Given the description of an element on the screen output the (x, y) to click on. 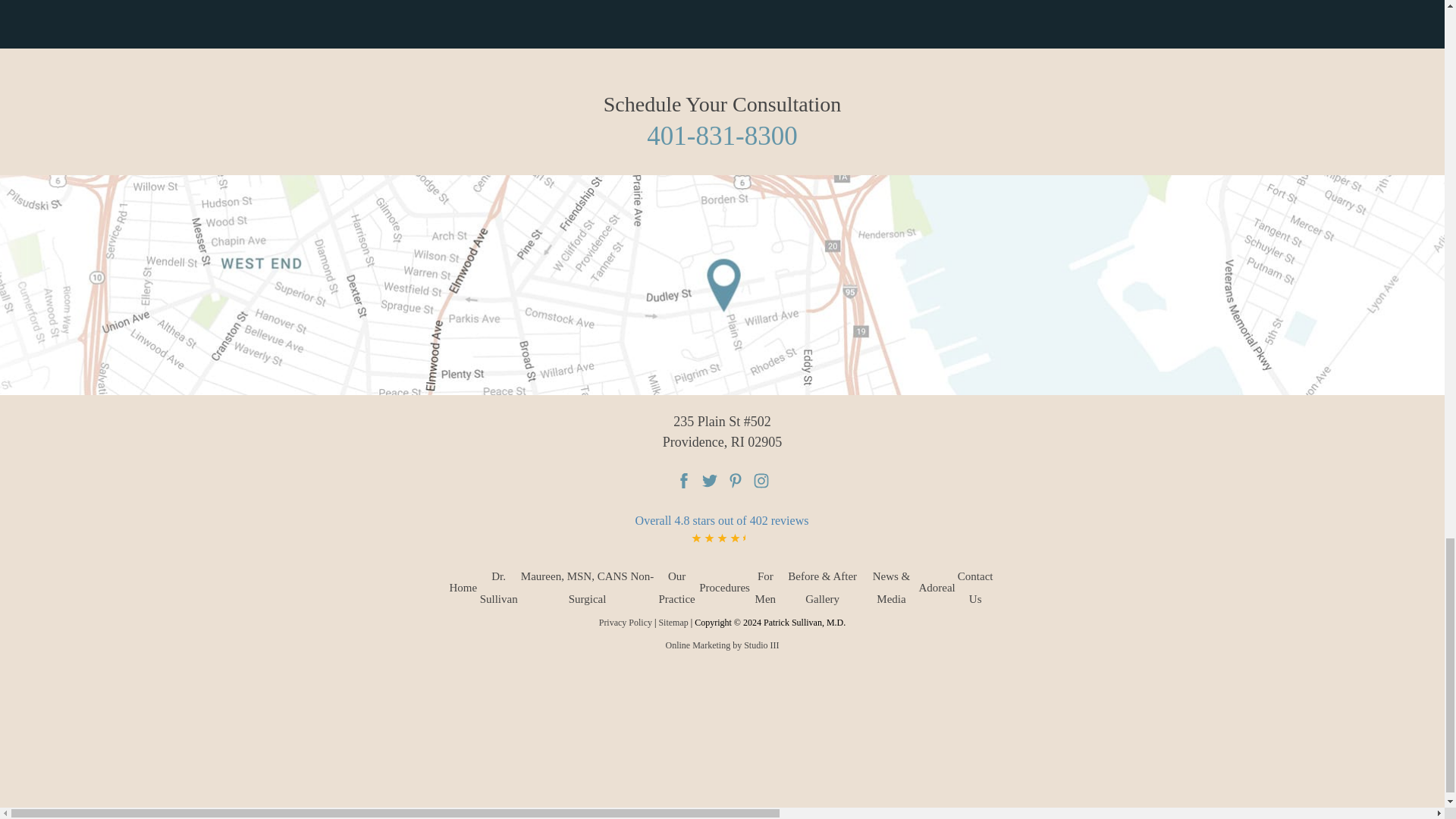
Sitemap (672, 622)
